Given the description of an element on the screen output the (x, y) to click on. 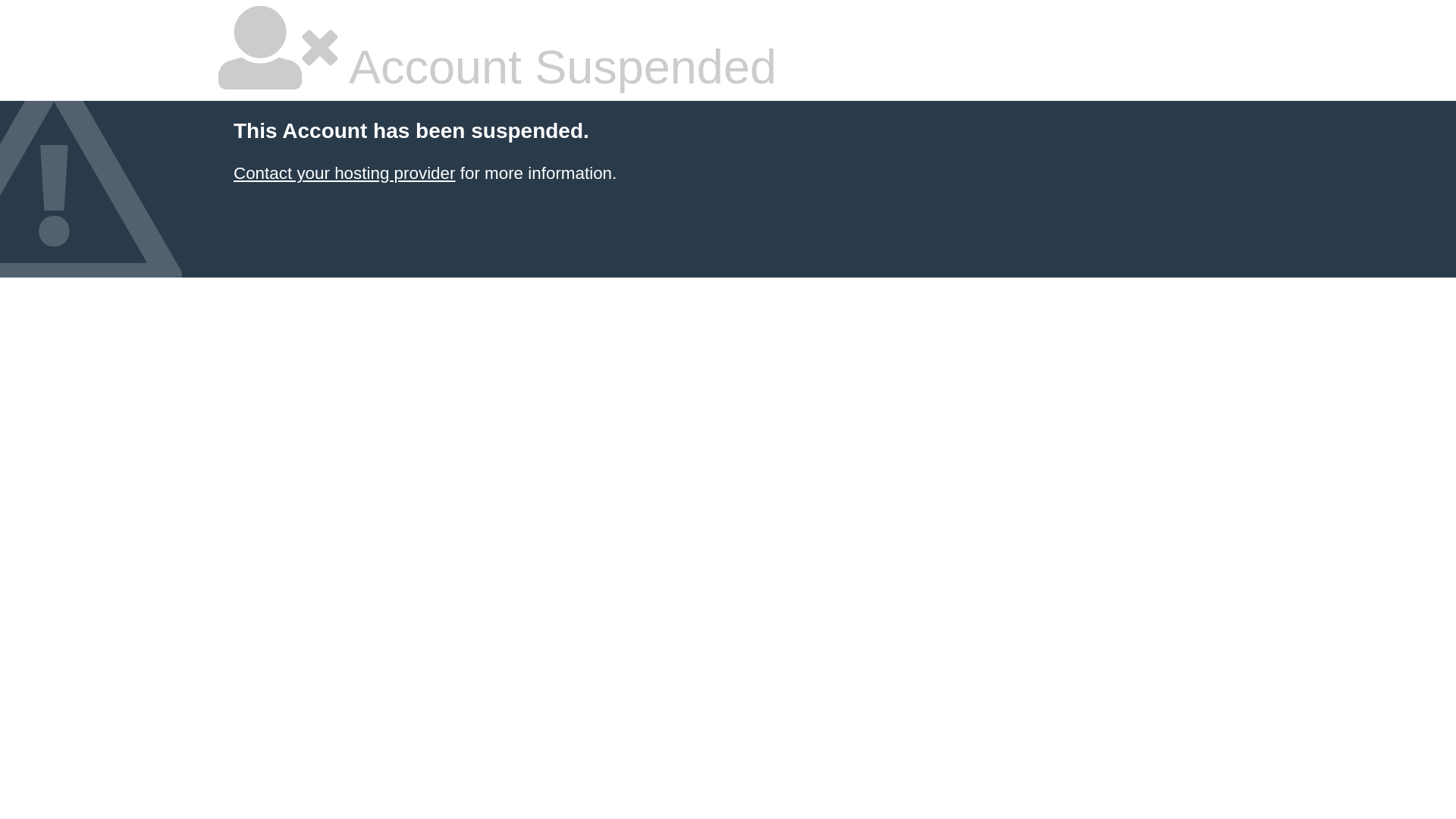
Contact your hosting provider Element type: text (344, 172)
